Given the description of an element on the screen output the (x, y) to click on. 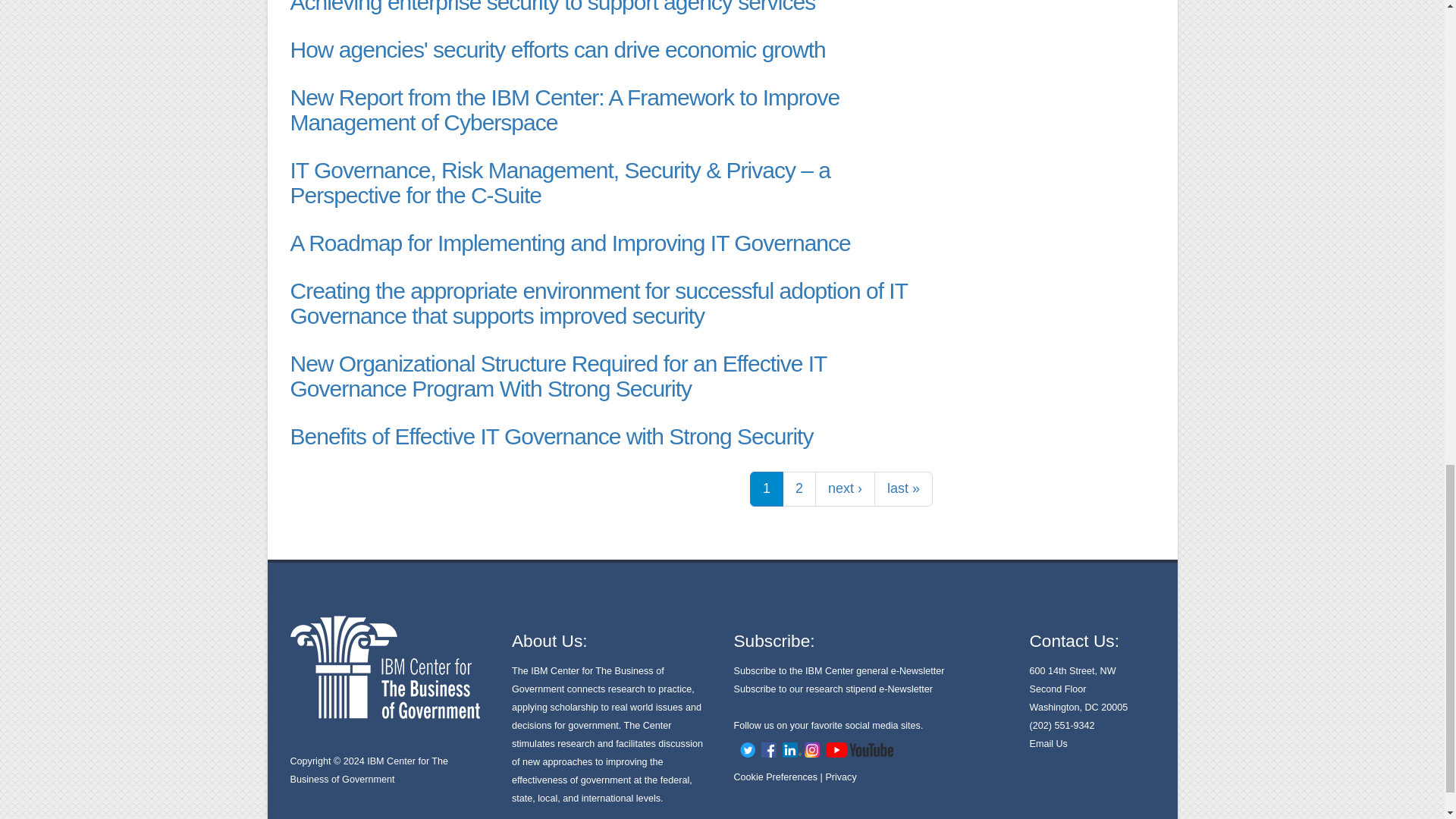
Go to page 2 (799, 488)
A Roadmap for Implementing and Improving IT Governance (569, 242)
Achieving enterprise security to support agency services (552, 7)
Go to next page (845, 488)
Benefits of Effective IT Governance with Strong Security (550, 436)
How agencies' security efforts can drive economic growth (557, 49)
Go to last page (904, 488)
